Given the description of an element on the screen output the (x, y) to click on. 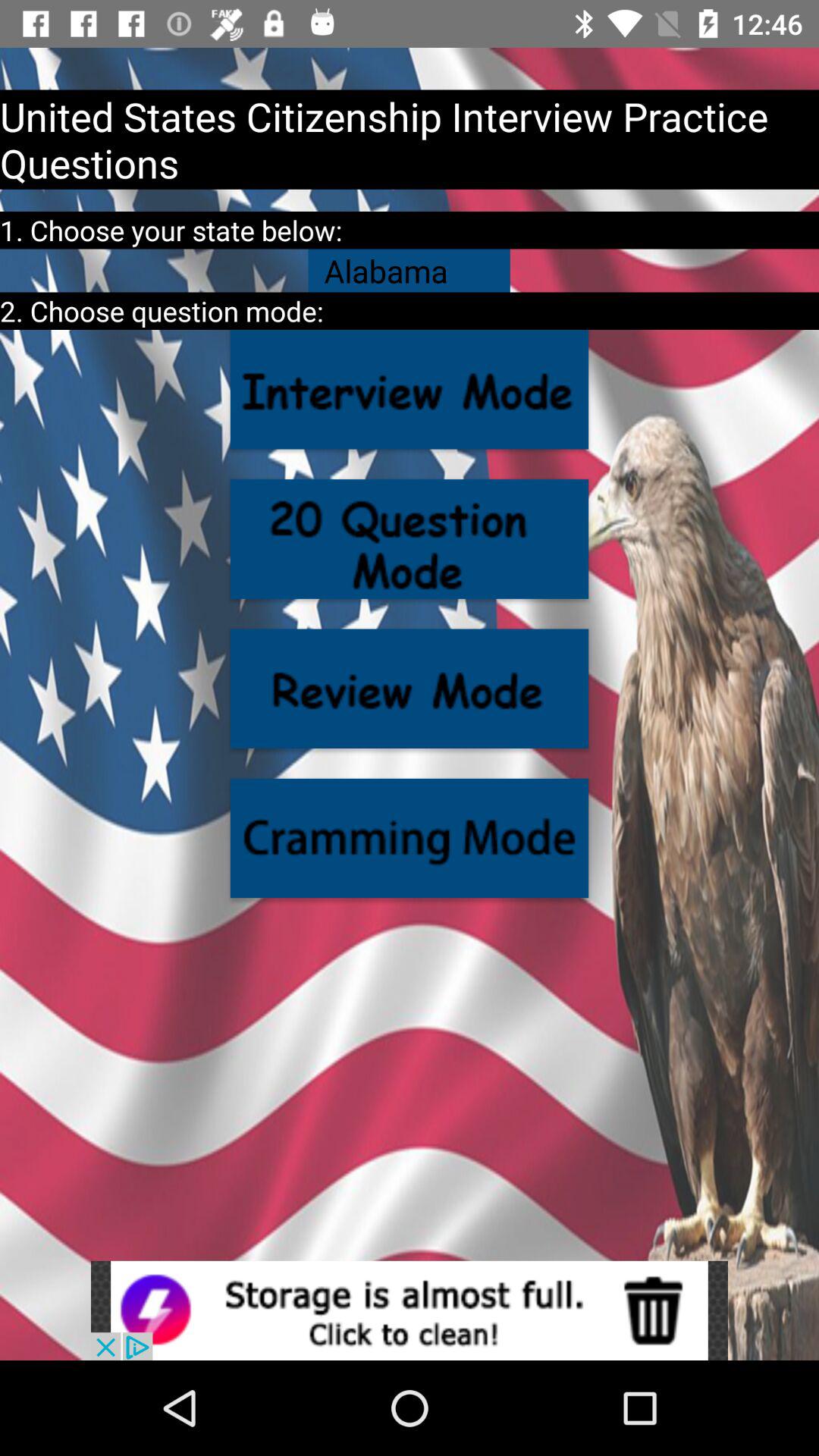
click the cramming mode option (409, 838)
